Given the description of an element on the screen output the (x, y) to click on. 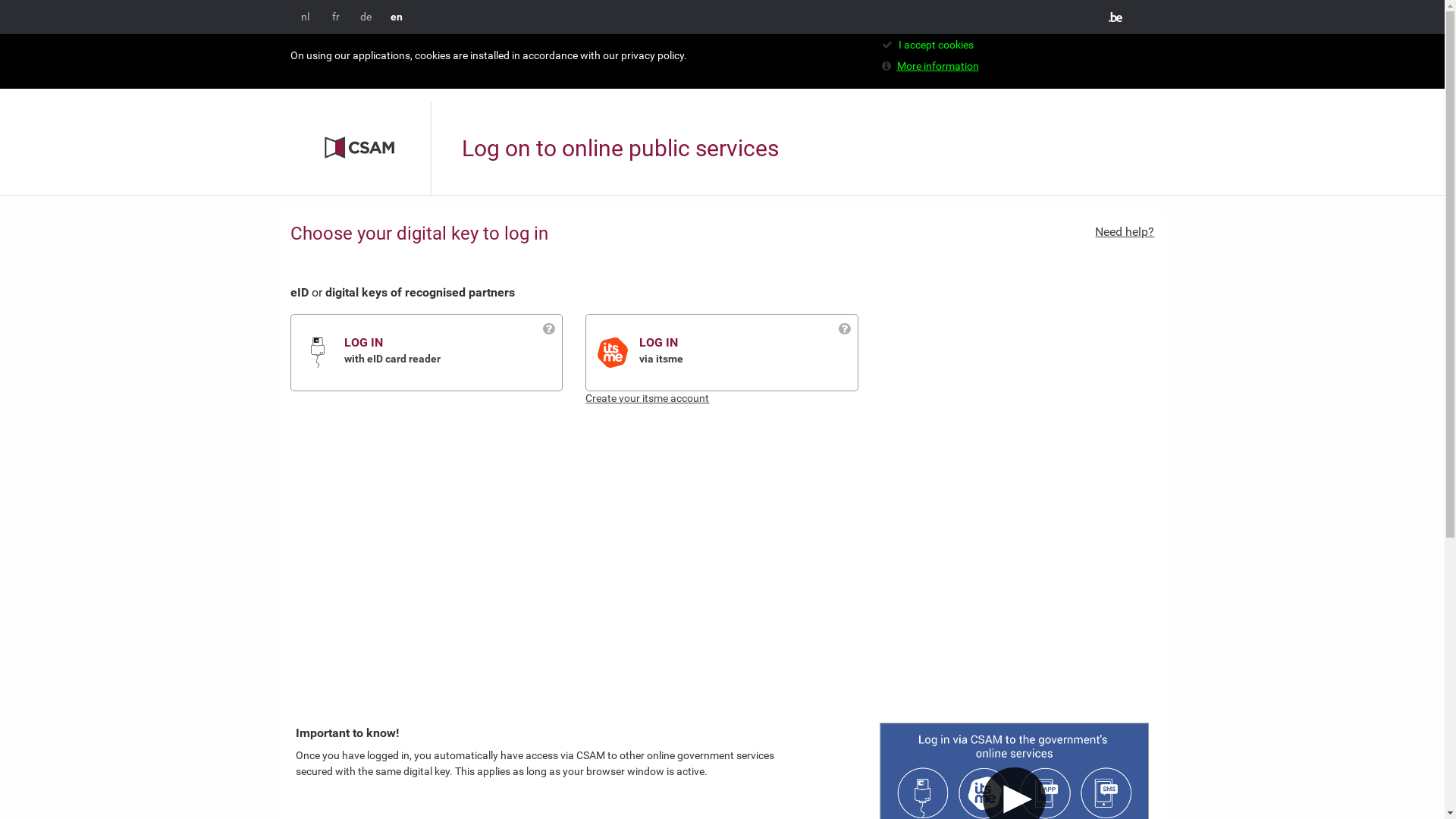
Create your itsme account Element type: text (647, 398)
fr Element type: text (335, 17)
LOG IN
via itsme Element type: text (748, 351)
nl Element type: text (305, 17)
en Element type: text (395, 17)
More information Element type: text (937, 65)
de Element type: text (365, 17)
Need help? Element type: text (1124, 231)
LOG IN
with eID card reader Element type: text (453, 351)
I accept cookies Element type: text (934, 44)
